Given the description of an element on the screen output the (x, y) to click on. 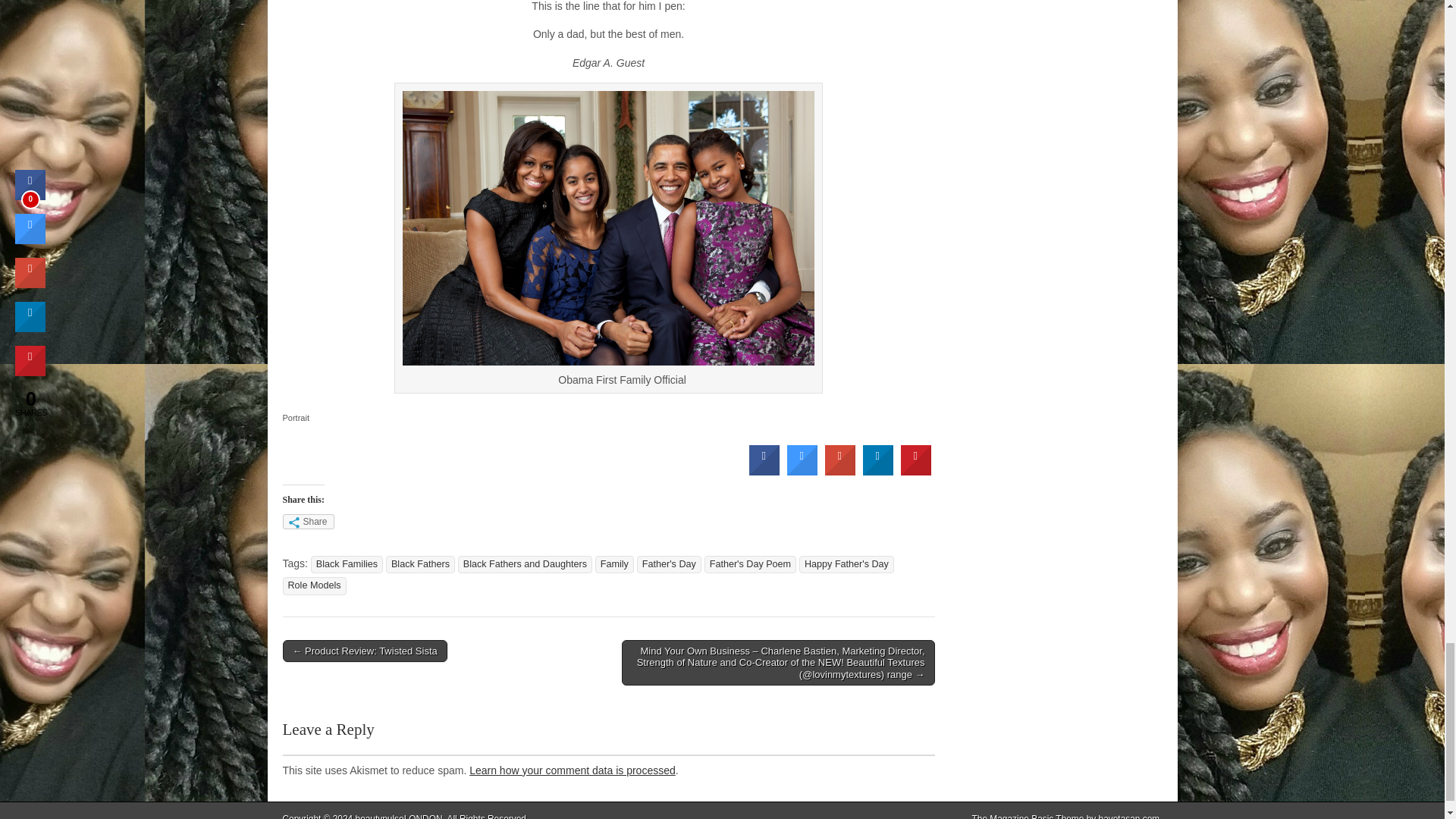
Share on Twitter (801, 471)
Share on Facebook (763, 471)
Obama Family Official Portrait (608, 227)
Share on Google Plus (840, 471)
Share to LinkedIn (878, 471)
